Given the description of an element on the screen output the (x, y) to click on. 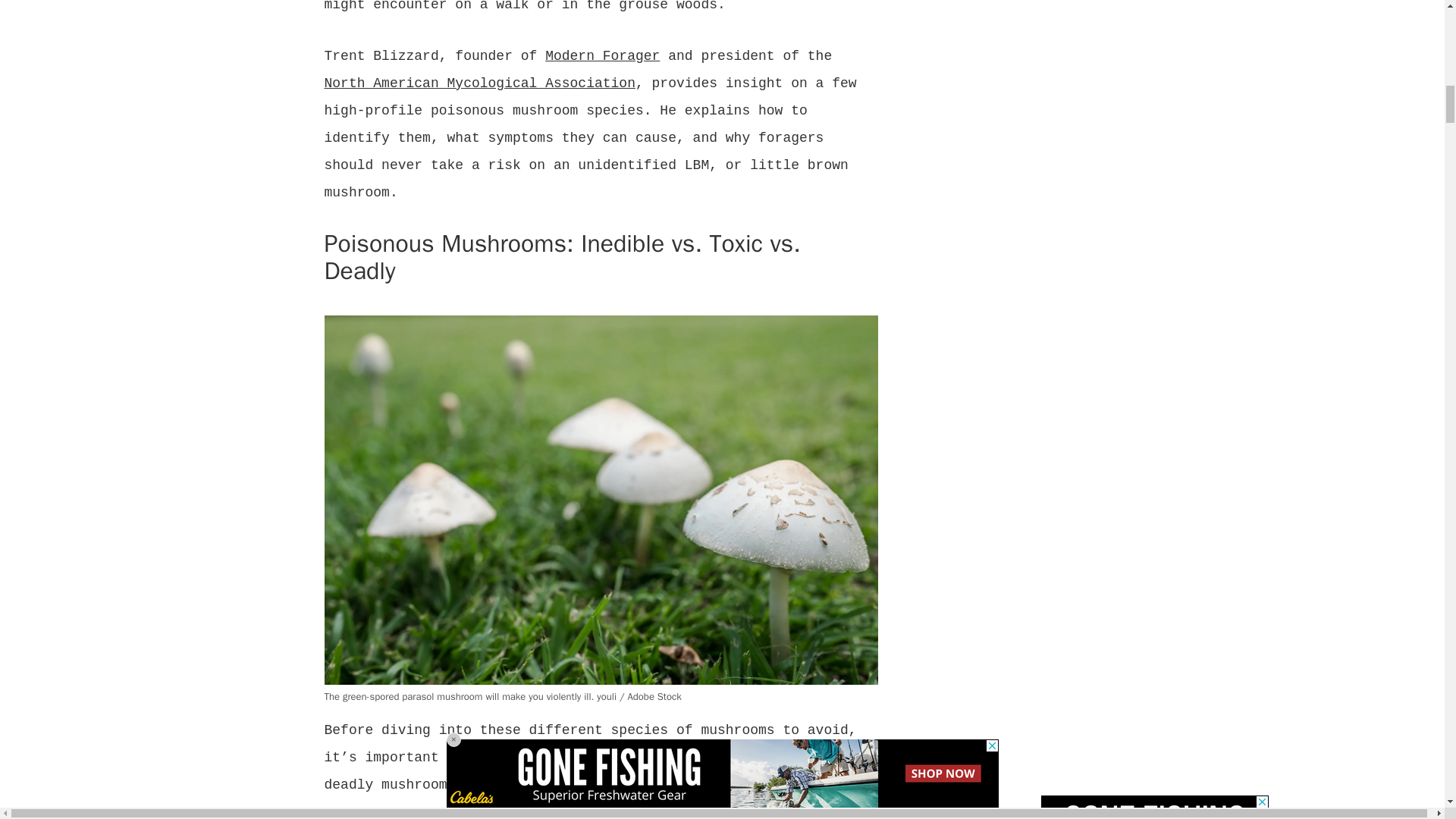
3rd party ad content (1154, 807)
